Given the description of an element on the screen output the (x, y) to click on. 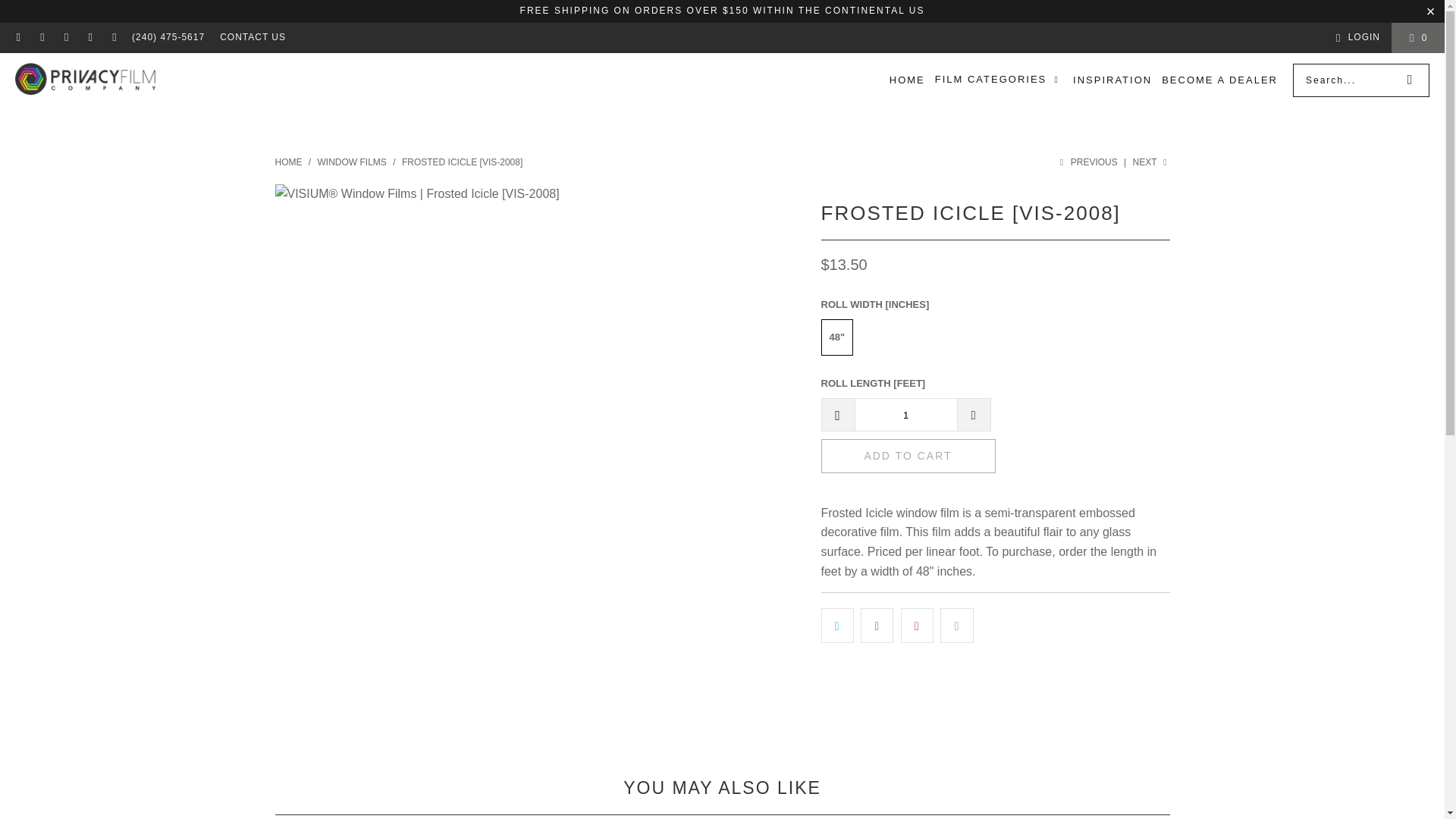
Email Privacy Film Company (17, 37)
Privacy Film Company on Instagram (89, 37)
Privacy Film Company on Pinterest (113, 37)
My Account  (1355, 37)
Privacy Film Company (288, 162)
Privacy Film Company (84, 80)
Share this on Twitter (837, 625)
Share this on Pinterest (917, 625)
Next (1151, 162)
Share this on Facebook (876, 625)
